Given the description of an element on the screen output the (x, y) to click on. 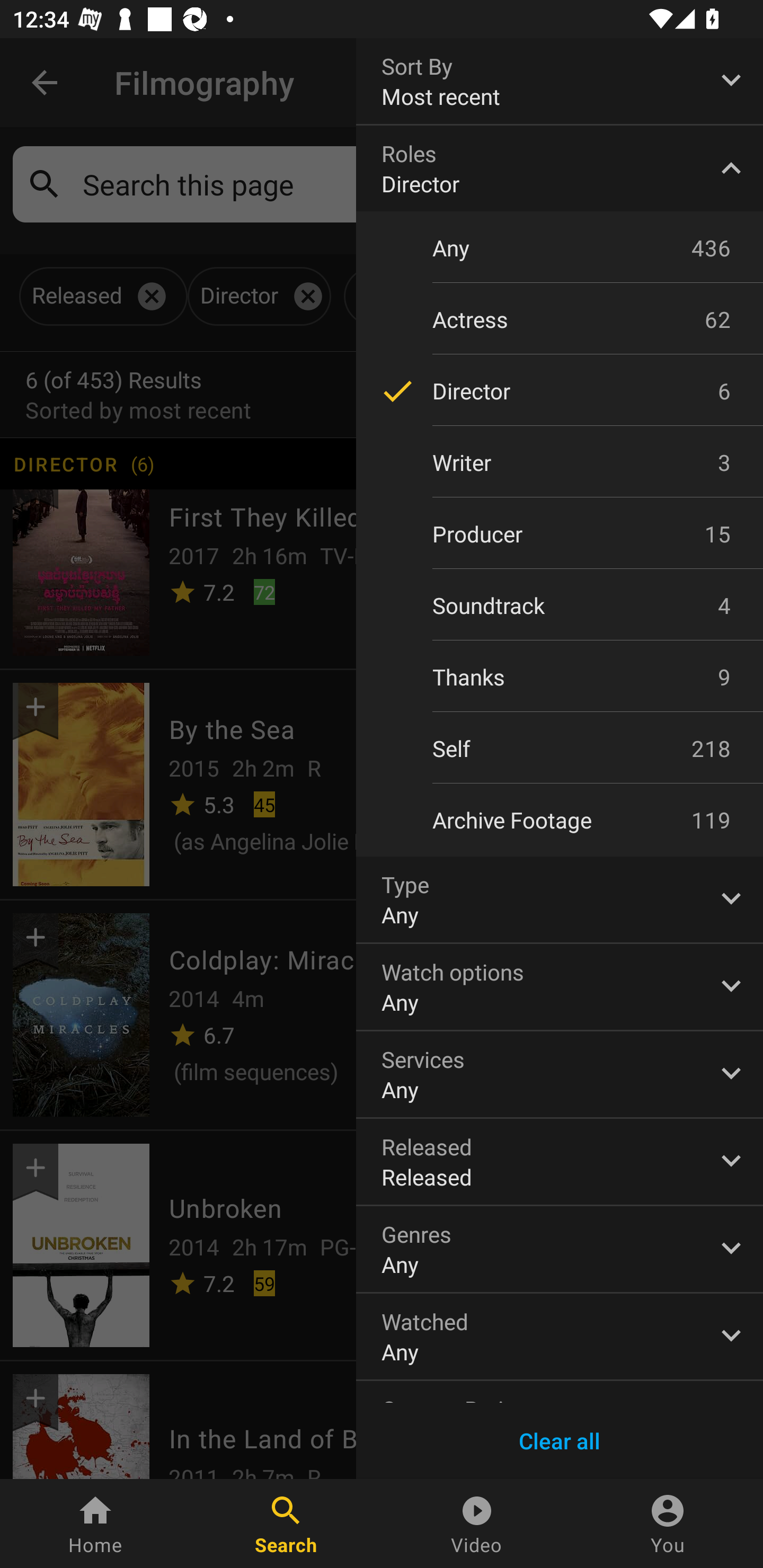
Sort By Most recent (559, 80)
Roles Director (559, 168)
Any 436 (559, 247)
Actress 62 (559, 318)
Director 6 (559, 390)
Writer 3 (559, 462)
Producer 15 (559, 533)
Soundtrack 4 (559, 604)
Thanks 9 (559, 676)
Self 218 (559, 748)
Archive Footage 119 (559, 819)
Type Any (559, 899)
Watch options Any (559, 986)
Services Any (559, 1073)
Released (559, 1161)
Genres Any (559, 1248)
Watched Any (559, 1336)
Clear all (559, 1440)
Home (95, 1523)
Video (476, 1523)
You (667, 1523)
